Given the description of an element on the screen output the (x, y) to click on. 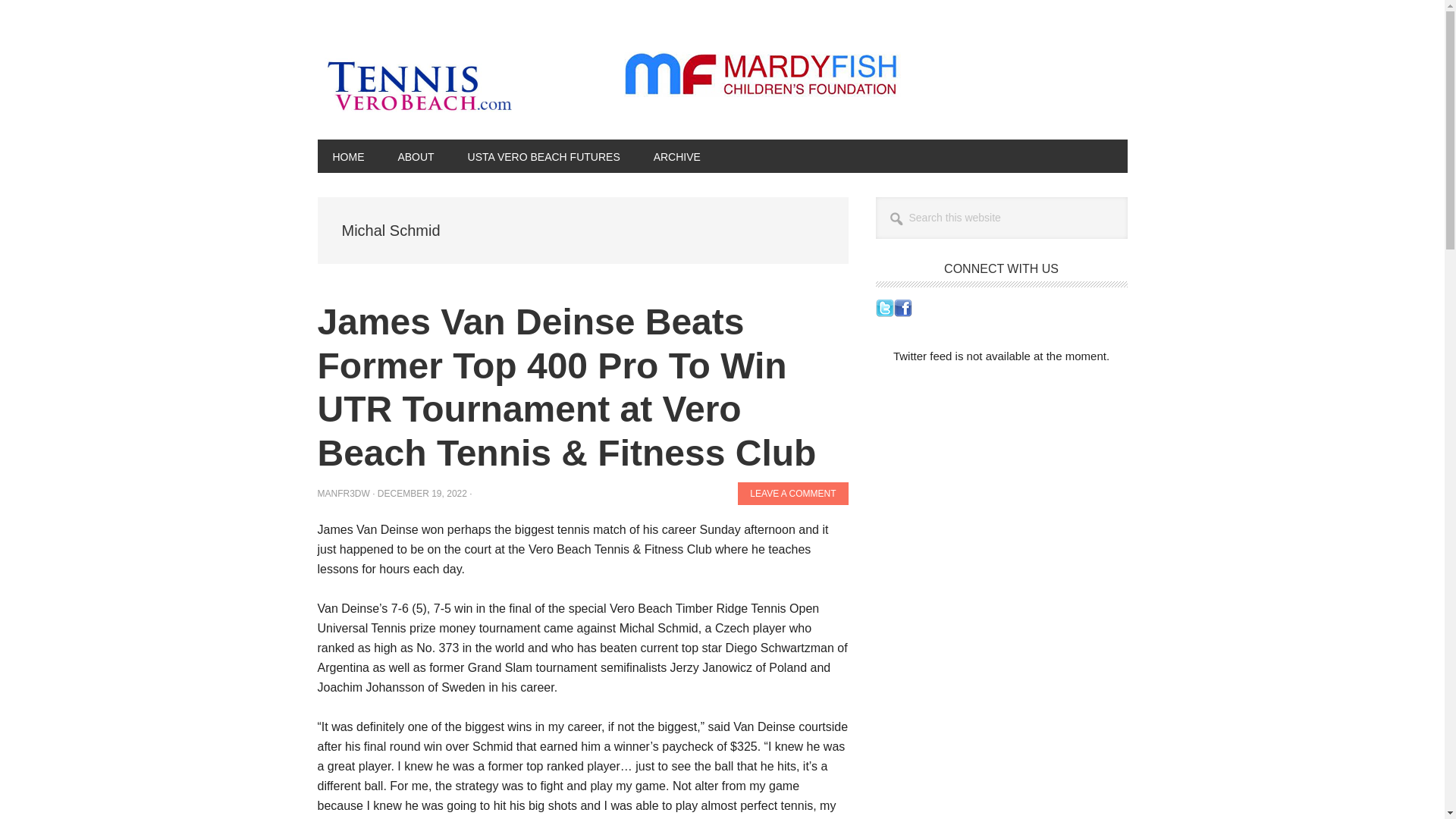
ARCHIVE (677, 155)
USTA VERO BEACH FUTURES (543, 155)
ABOUT (414, 155)
HOME (347, 155)
TENNIS VEROBEACH (419, 81)
LEAVE A COMMENT (792, 493)
MANFR3DW (343, 493)
